Given the description of an element on the screen output the (x, y) to click on. 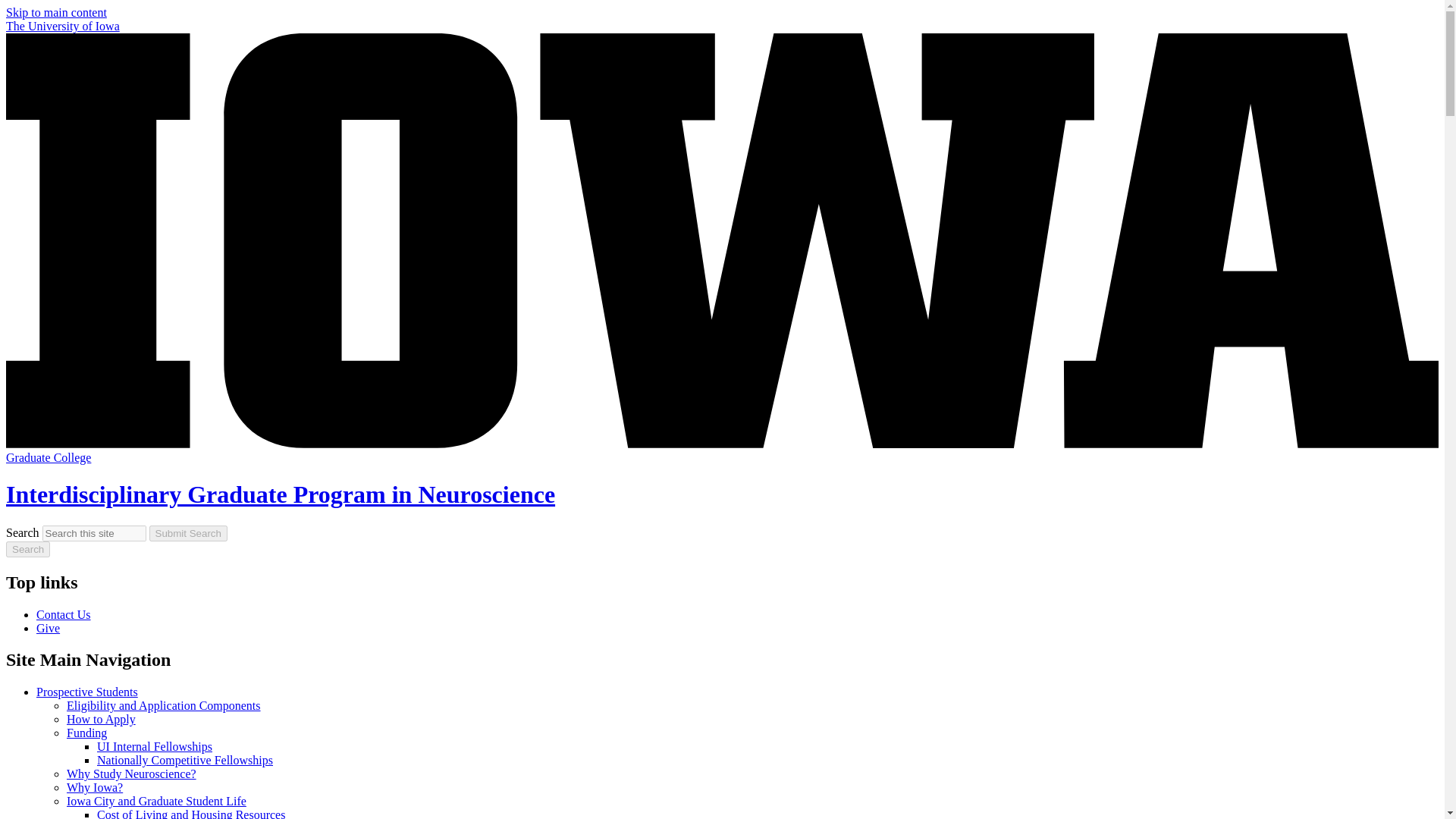
Eligibility and Application Components (163, 705)
Submit Search (188, 533)
Graduate College (47, 457)
Nationally Competitive Fellowships (185, 759)
How to Apply (100, 718)
Why Study Neuroscience? (131, 773)
Search (27, 549)
Prospective Students (87, 691)
Funding (86, 732)
Cost of Living and Housing Resources (191, 813)
Why Iowa? (94, 787)
Skip to main content (55, 11)
Interdisciplinary Graduate Program in Neuroscience (279, 493)
Iowa City and Graduate Student Life (156, 800)
Contact Us (63, 614)
